Given the description of an element on the screen output the (x, y) to click on. 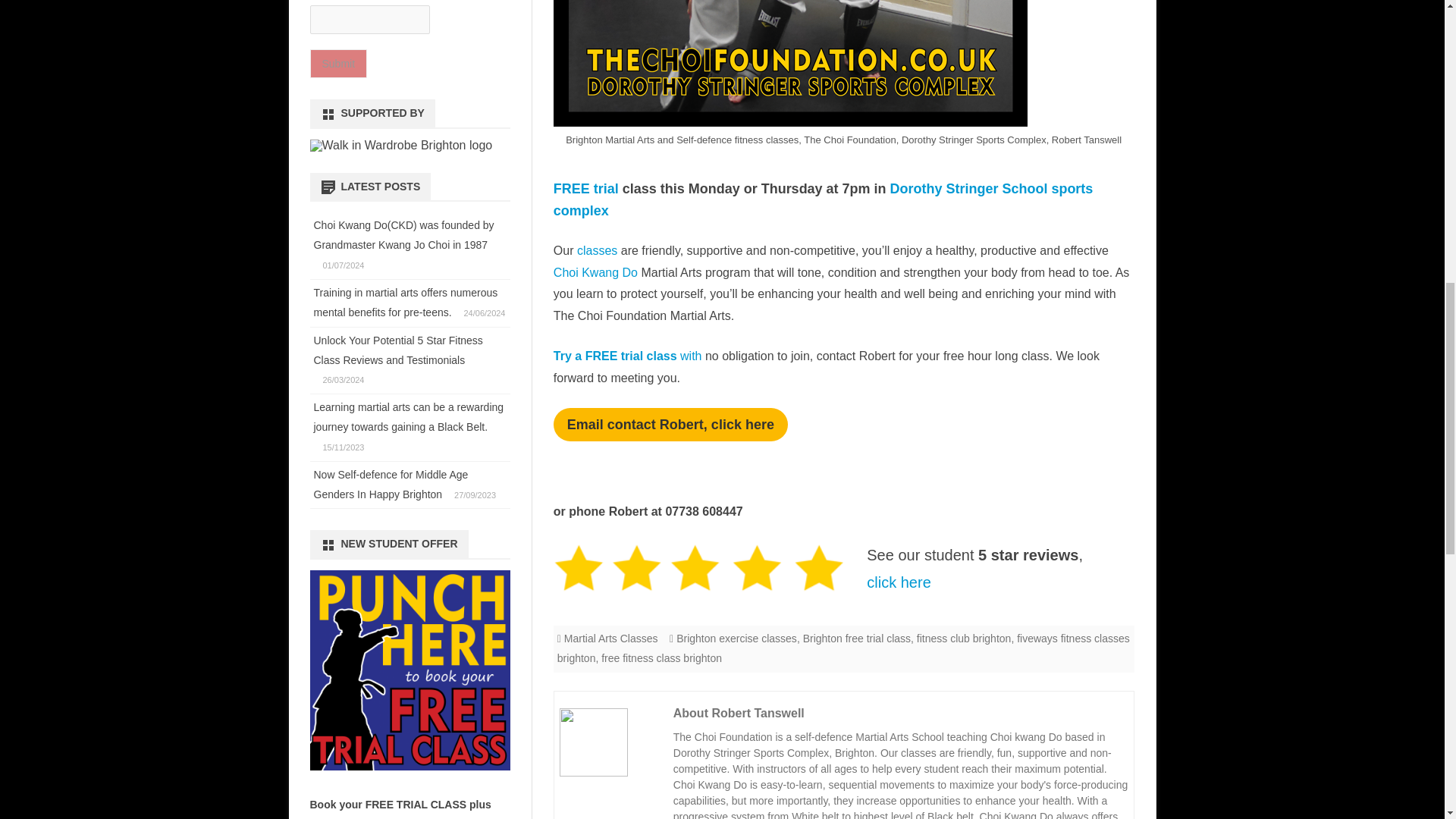
Dorothy Stringer School sports complex (823, 199)
classes (598, 250)
FREE trial (585, 188)
